Given the description of an element on the screen output the (x, y) to click on. 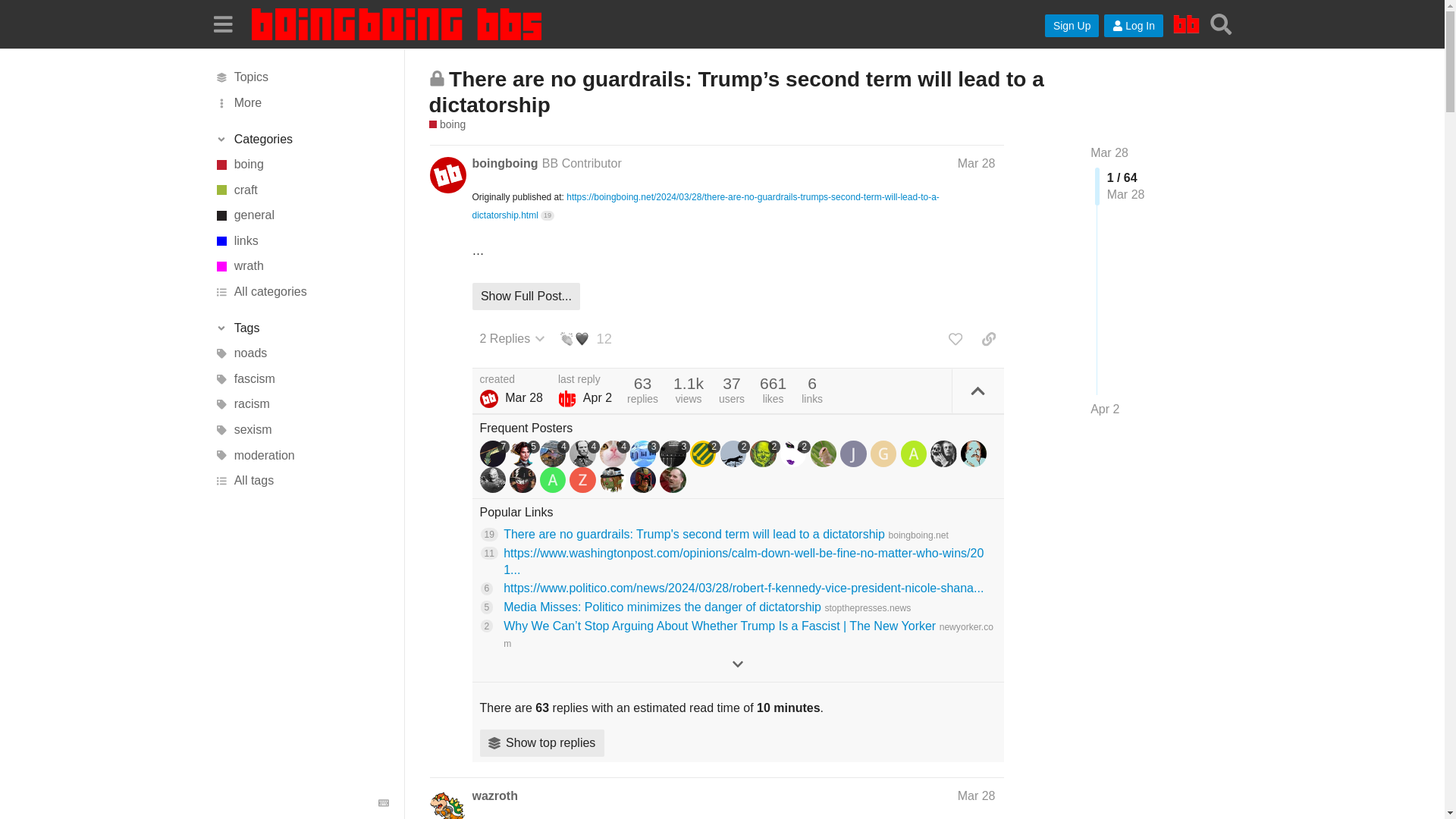
All topics (301, 77)
wrath (301, 266)
Topics (301, 77)
Tags (301, 328)
general (301, 216)
2 Replies (512, 338)
boing (447, 124)
Politics, religion, and cycling (301, 266)
Mar 28 (976, 162)
sexism (301, 429)
Boing Boing front page (1186, 23)
links (301, 240)
Things that you made. (301, 190)
Boing Boing front page (1186, 23)
Search (1220, 23)
